Given the description of an element on the screen output the (x, y) to click on. 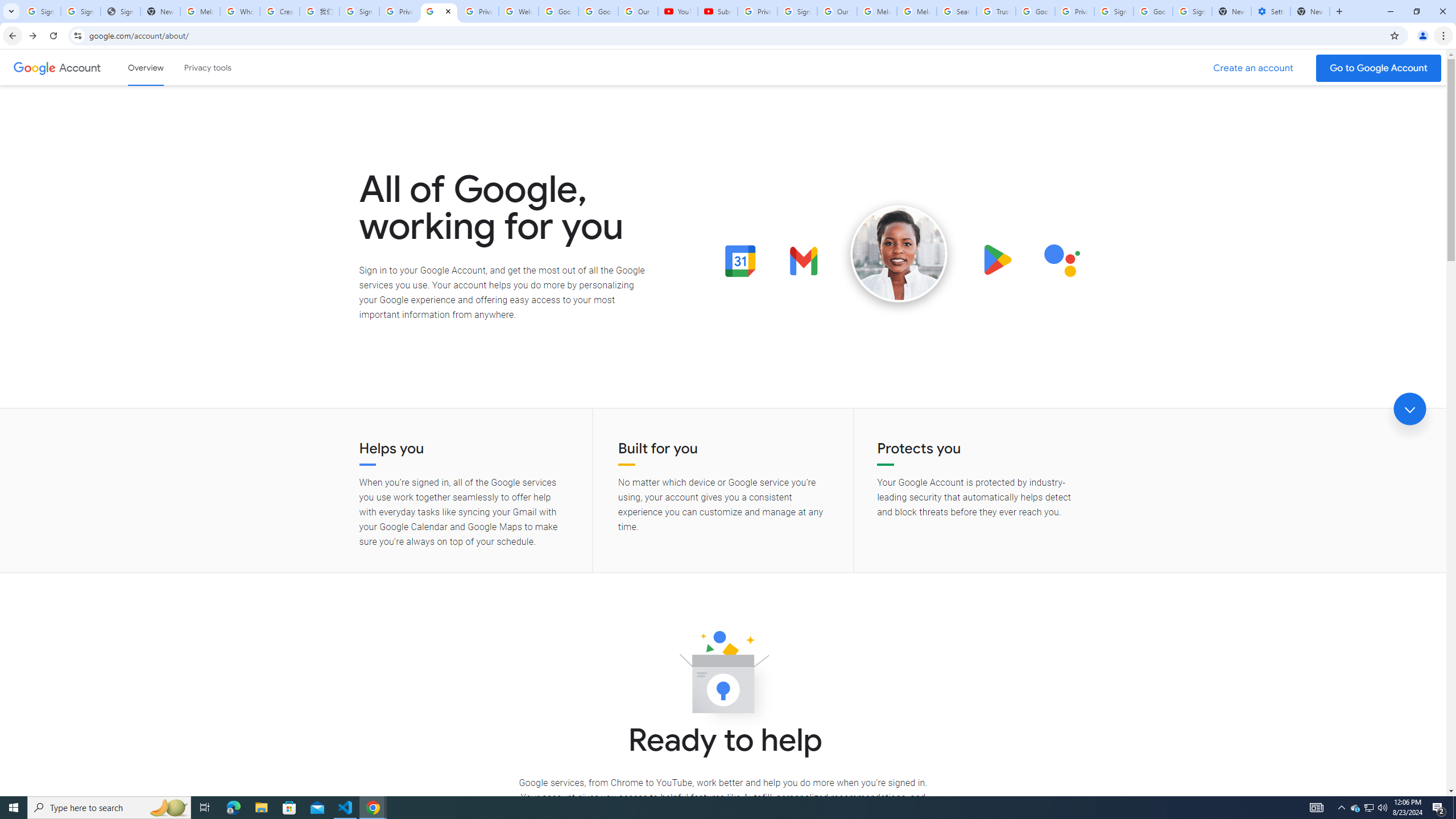
Sign in - Google Accounts (796, 11)
Create a Google Account (1253, 67)
Sign in - Google Accounts (40, 11)
Google logo (34, 67)
Google Account (80, 67)
Ready to help (722, 675)
Google Cybersecurity Innovations - Google Safety Center (1152, 11)
